Given the description of an element on the screen output the (x, y) to click on. 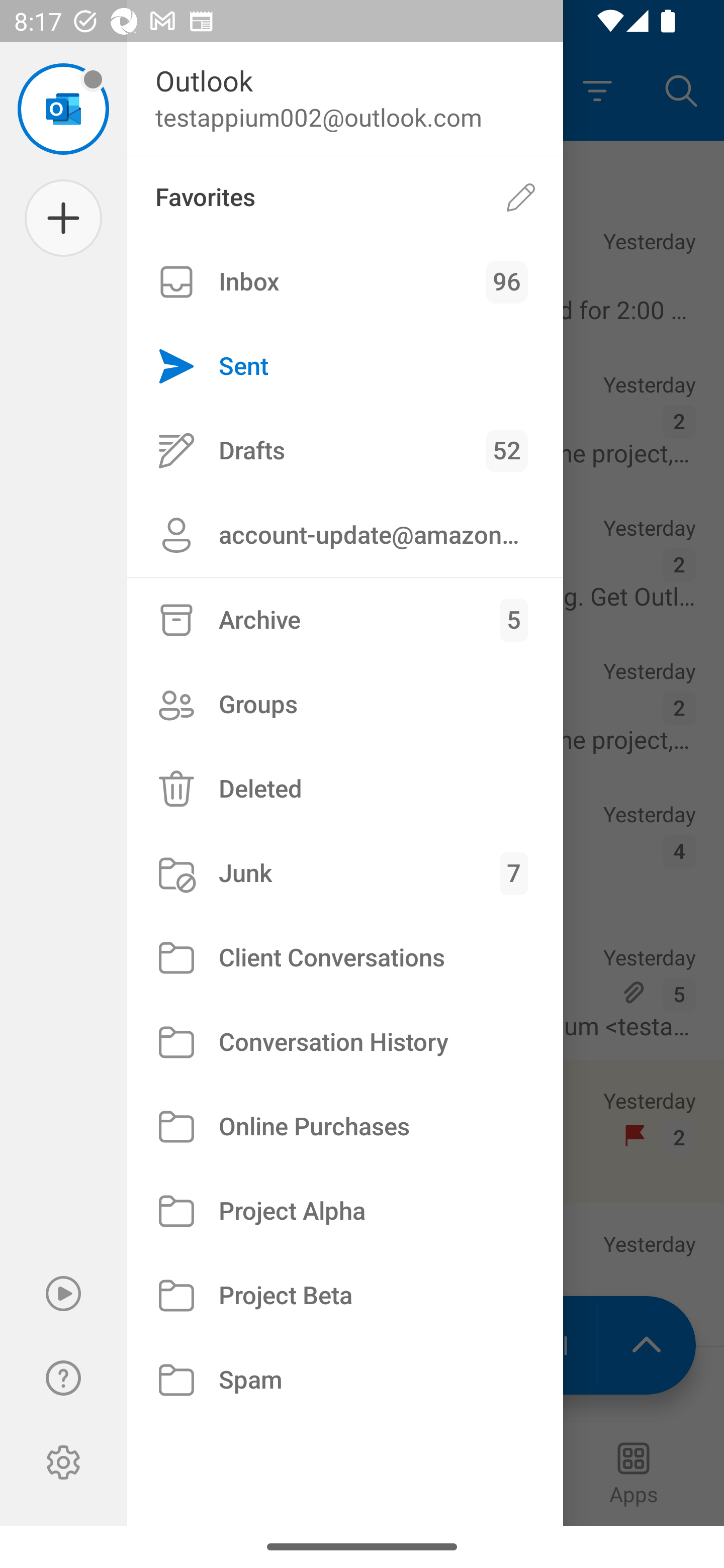
Edit favorites (520, 197)
Add account (63, 217)
Inbox Inbox, 96 unread emails (345, 281)
Sent Sent,Selected (345, 366)
Drafts Drafts, 52 unread emails (345, 450)
account-update@amazon.com (345, 534)
Archive Archive, 2 of 11, level 1, 5 unread emails (345, 619)
Groups Groups, 3 of 11, level 1 (345, 703)
Deleted Deleted, 4 of 11, level 1 (345, 788)
Junk Junk, 5 of 11, level 1, 7 unread emails (345, 873)
Project Alpha Project Alpha, 9 of 11, level 1 (345, 1210)
Play My Emails (62, 1293)
Project Beta Project Beta, 10 of 11, level 1 (345, 1294)
Help (62, 1377)
Spam Spam, 11 of 11, level 1 (345, 1379)
Settings (62, 1462)
